Given the description of an element on the screen output the (x, y) to click on. 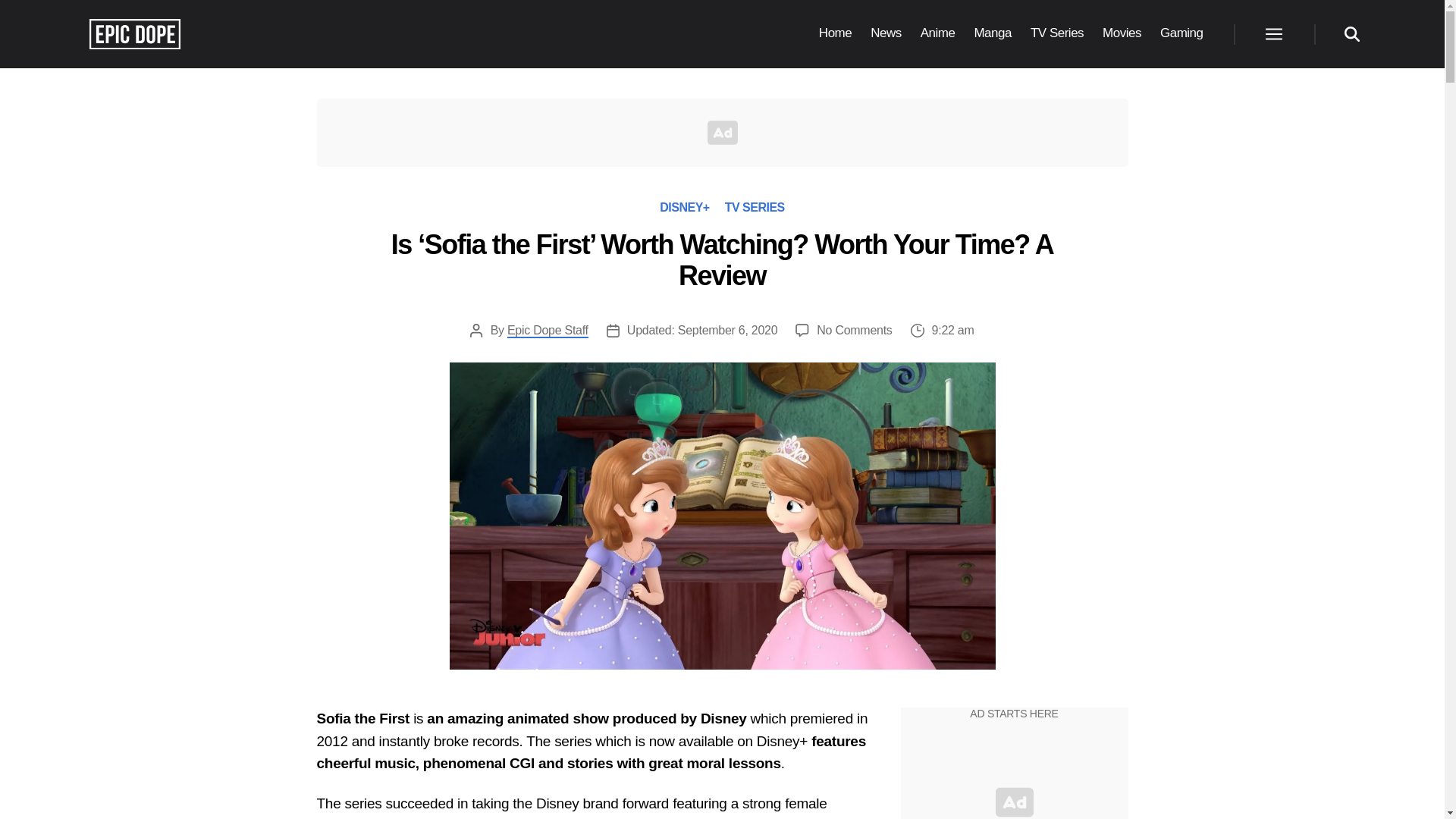
Search (1351, 33)
TV SERIES (754, 206)
Movies (1121, 33)
News (885, 33)
Menu (1273, 33)
Gaming (1182, 33)
Epic Dope Staff (547, 330)
Manga (992, 33)
Home (834, 33)
TV Series (1056, 33)
Anime (937, 33)
